Given the description of an element on the screen output the (x, y) to click on. 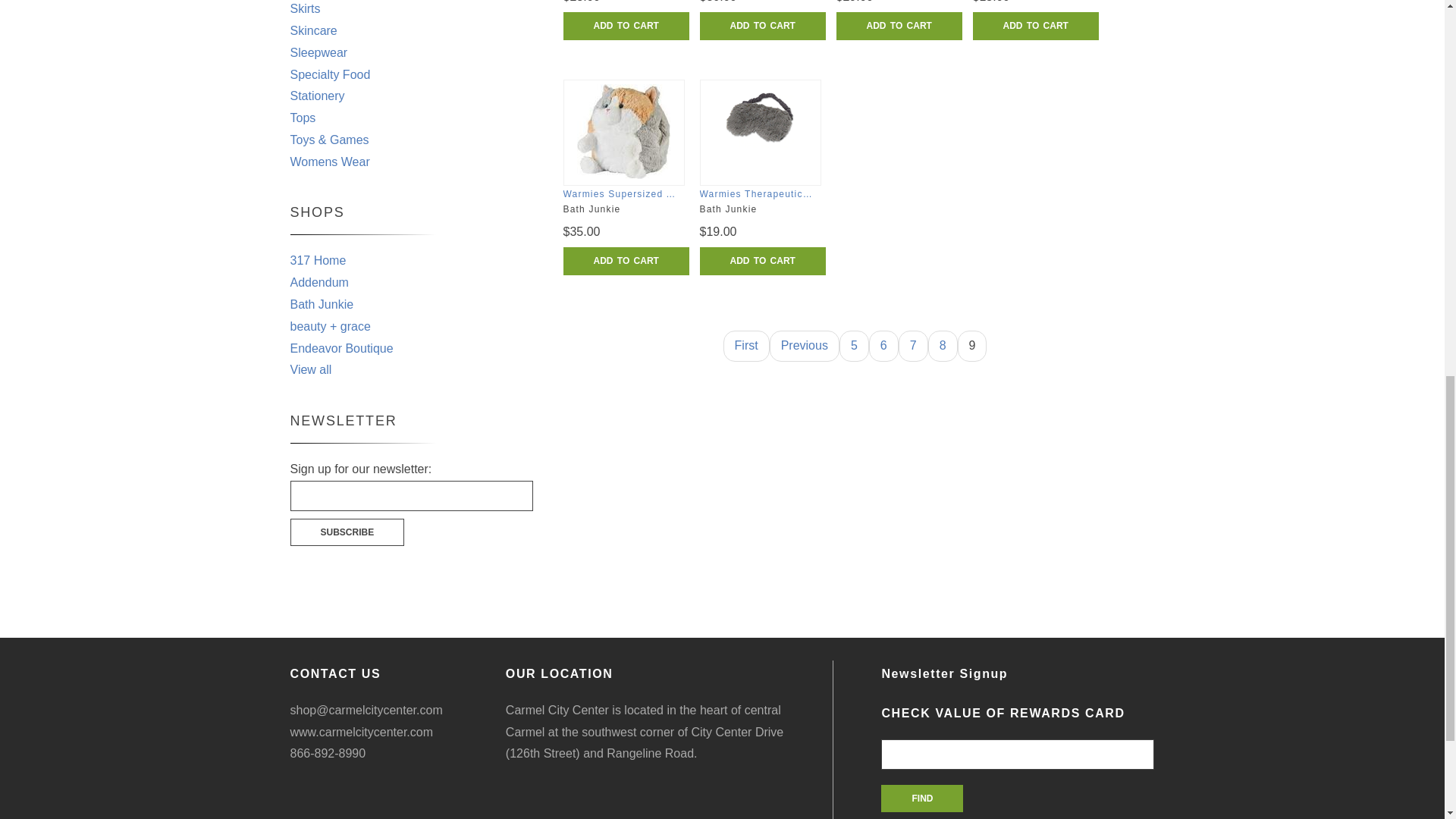
Add to cart (761, 260)
Add to cart (761, 25)
Find (921, 798)
Add to cart (897, 25)
Show details for Warmies Therapeutic Eye Mask (759, 114)
Add to cart (625, 25)
Subscribe (346, 532)
Add to cart (625, 260)
Add to cart (1034, 25)
Show details for Warmies Therapeutic Eye Mask (760, 116)
